Given the description of an element on the screen output the (x, y) to click on. 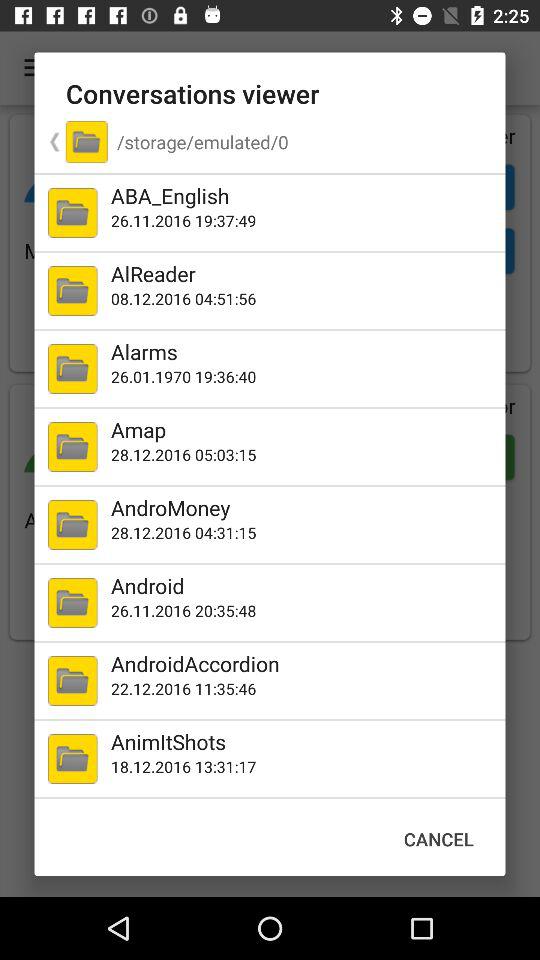
select alarms icon (304, 351)
